Given the description of an element on the screen output the (x, y) to click on. 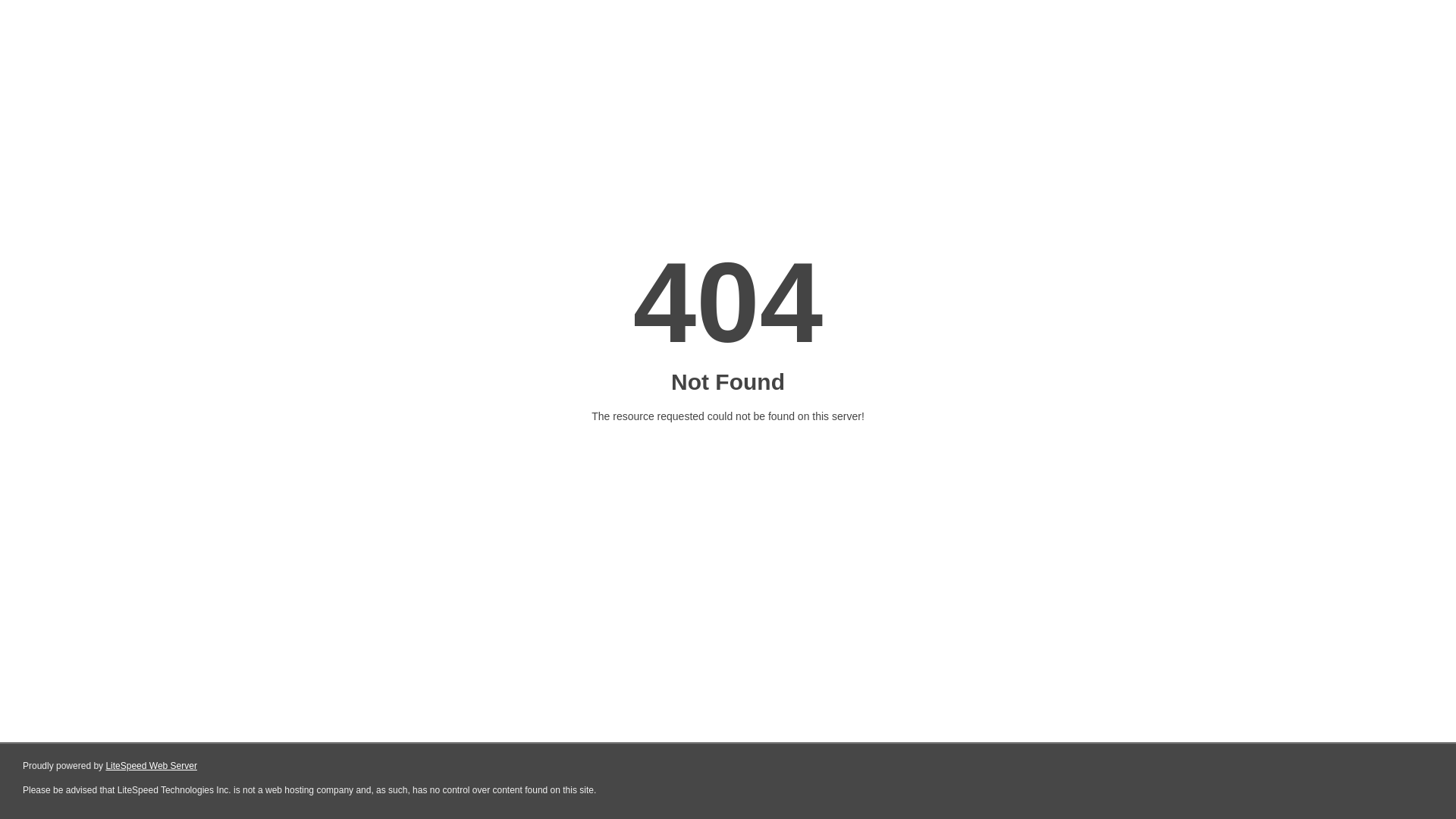
LiteSpeed Web Server Element type: text (151, 765)
